Given the description of an element on the screen output the (x, y) to click on. 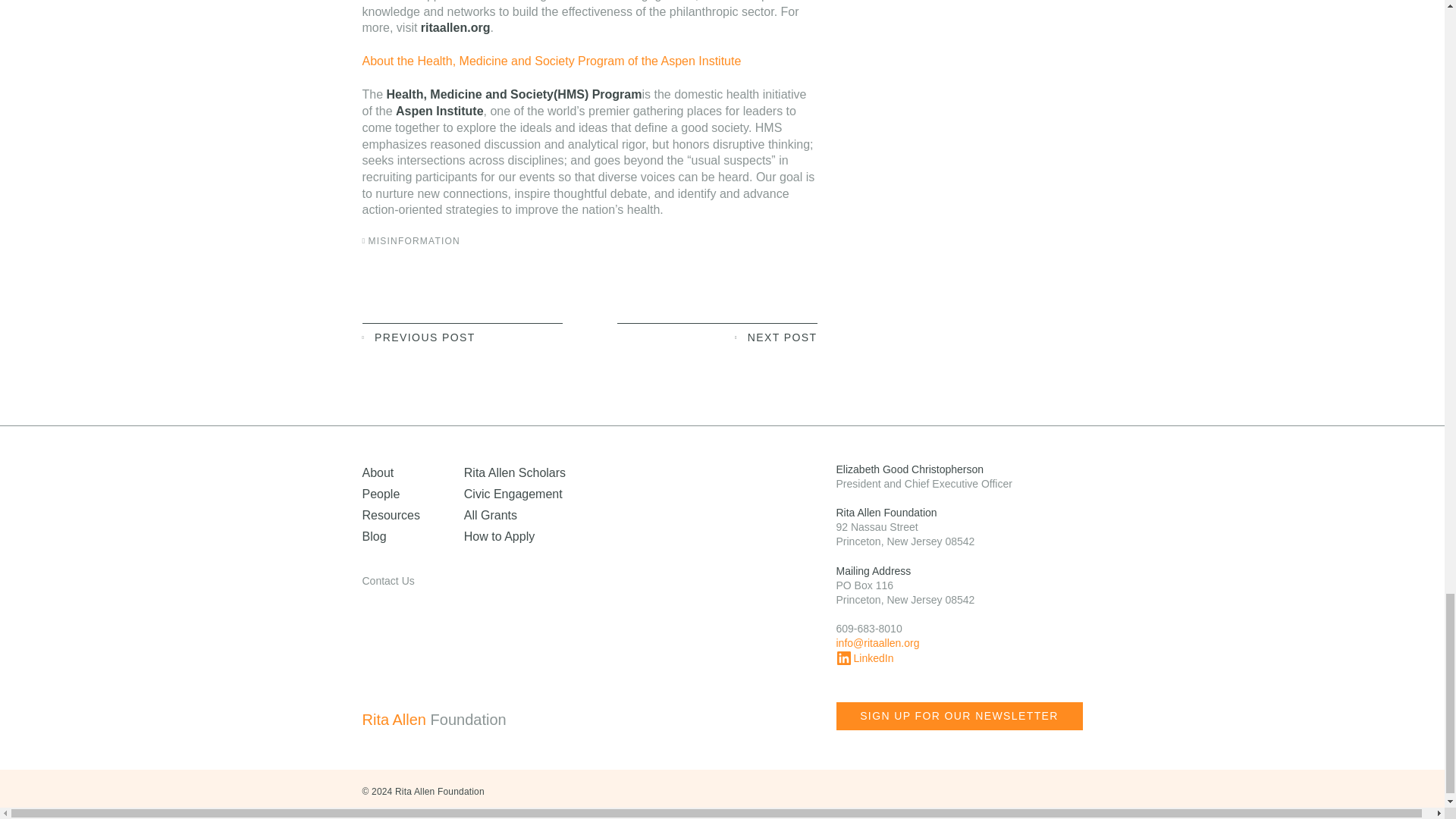
All Grants (490, 514)
Rita Allen Scholars (515, 472)
NEXT POST (716, 335)
Aspen Institute (439, 110)
Resources (391, 514)
Civic Engagement (513, 493)
ritaallen.org (455, 27)
PREVIOUS POST (462, 335)
How to Apply (499, 535)
Rita Allen Foundation (464, 719)
